Given the description of an element on the screen output the (x, y) to click on. 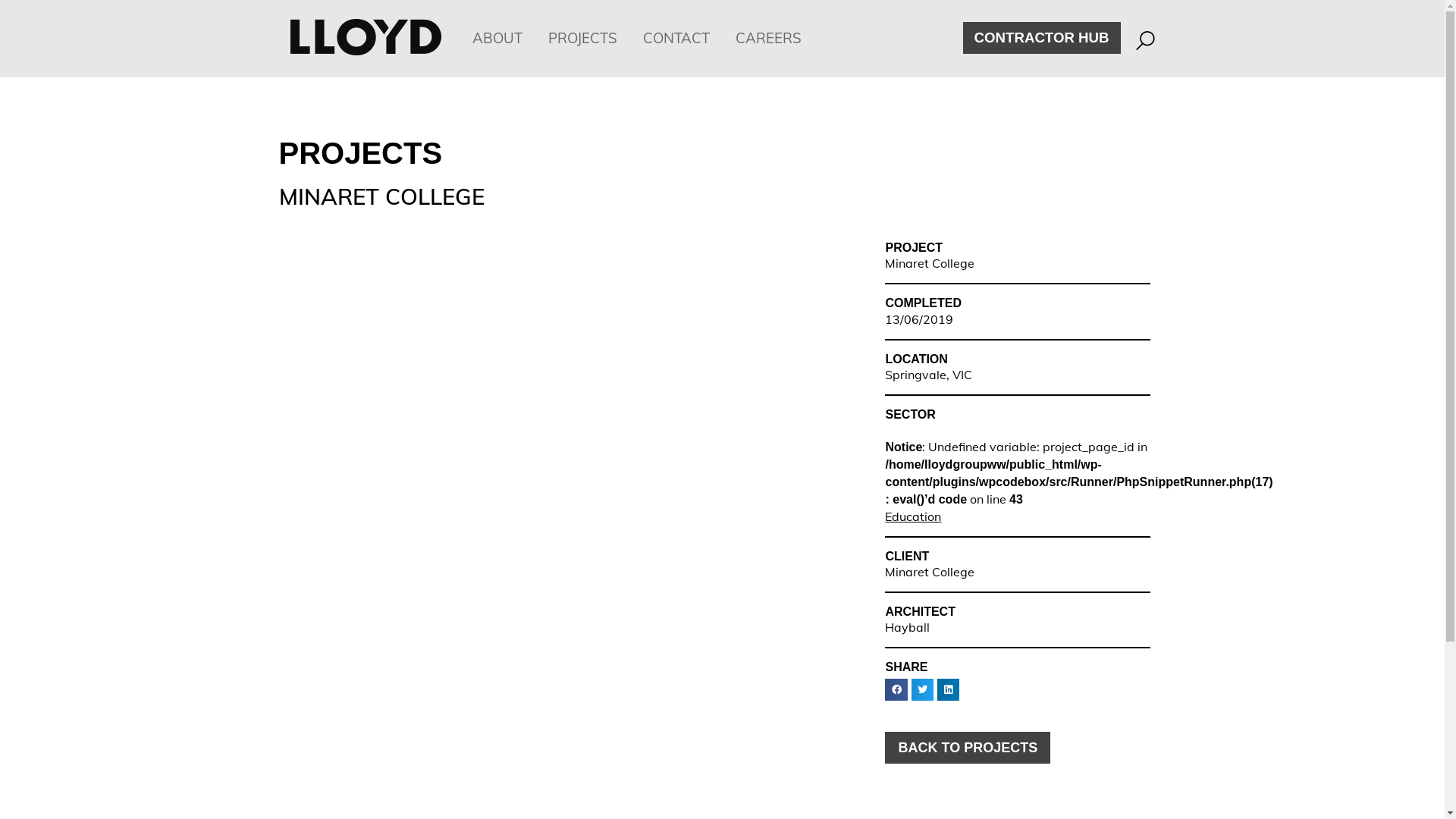
ABOUT Element type: text (496, 38)
BACK TO PROJECTS Element type: text (967, 747)
PROJECTS Element type: text (581, 38)
CAREERS Element type: text (768, 38)
Education Element type: text (912, 516)
CONTRACTOR HUB Element type: text (1041, 37)
CONTACT Element type: text (676, 38)
